Given the description of an element on the screen output the (x, y) to click on. 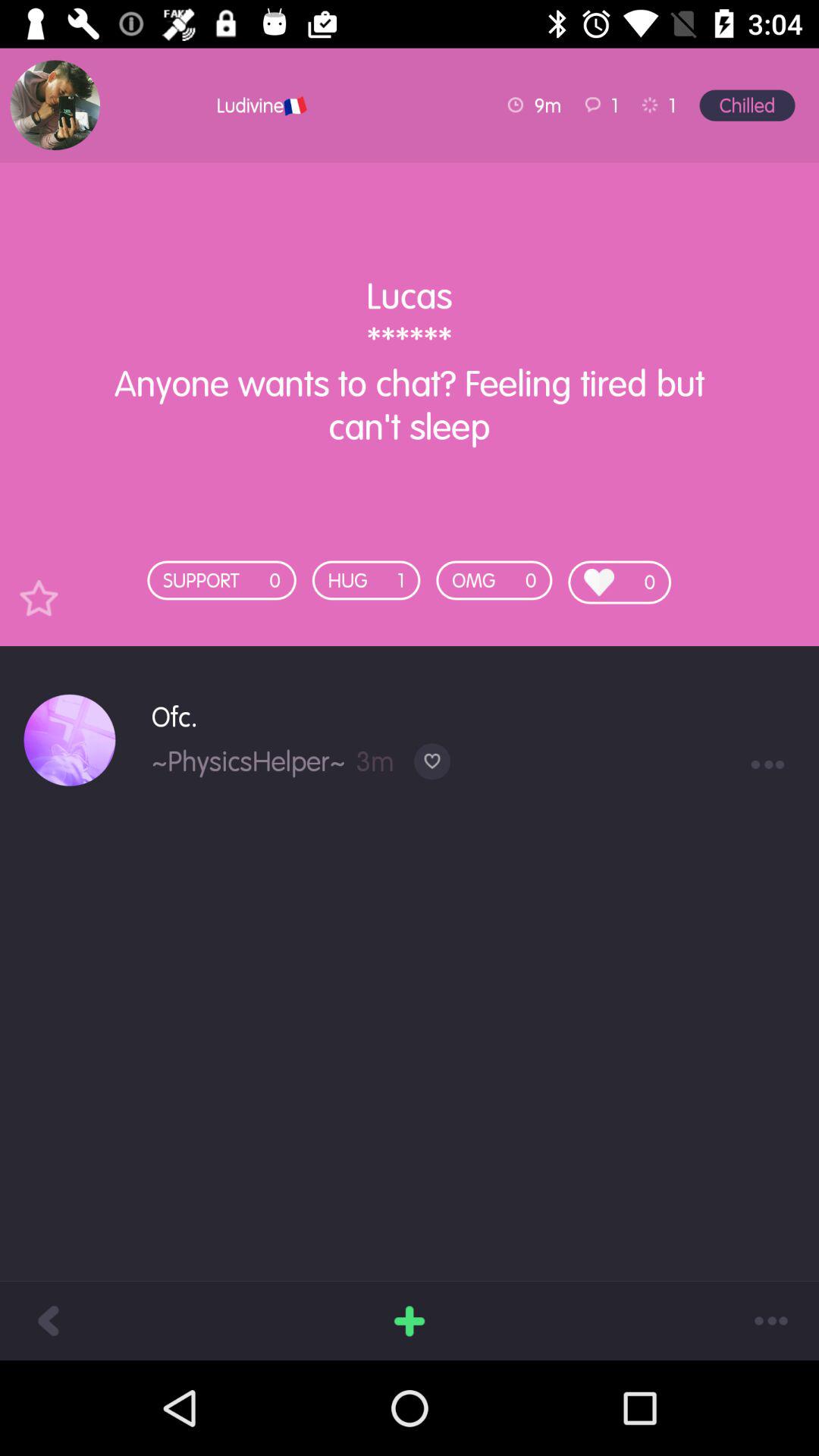
turn off the item below the ofc. item (432, 761)
